Given the description of an element on the screen output the (x, y) to click on. 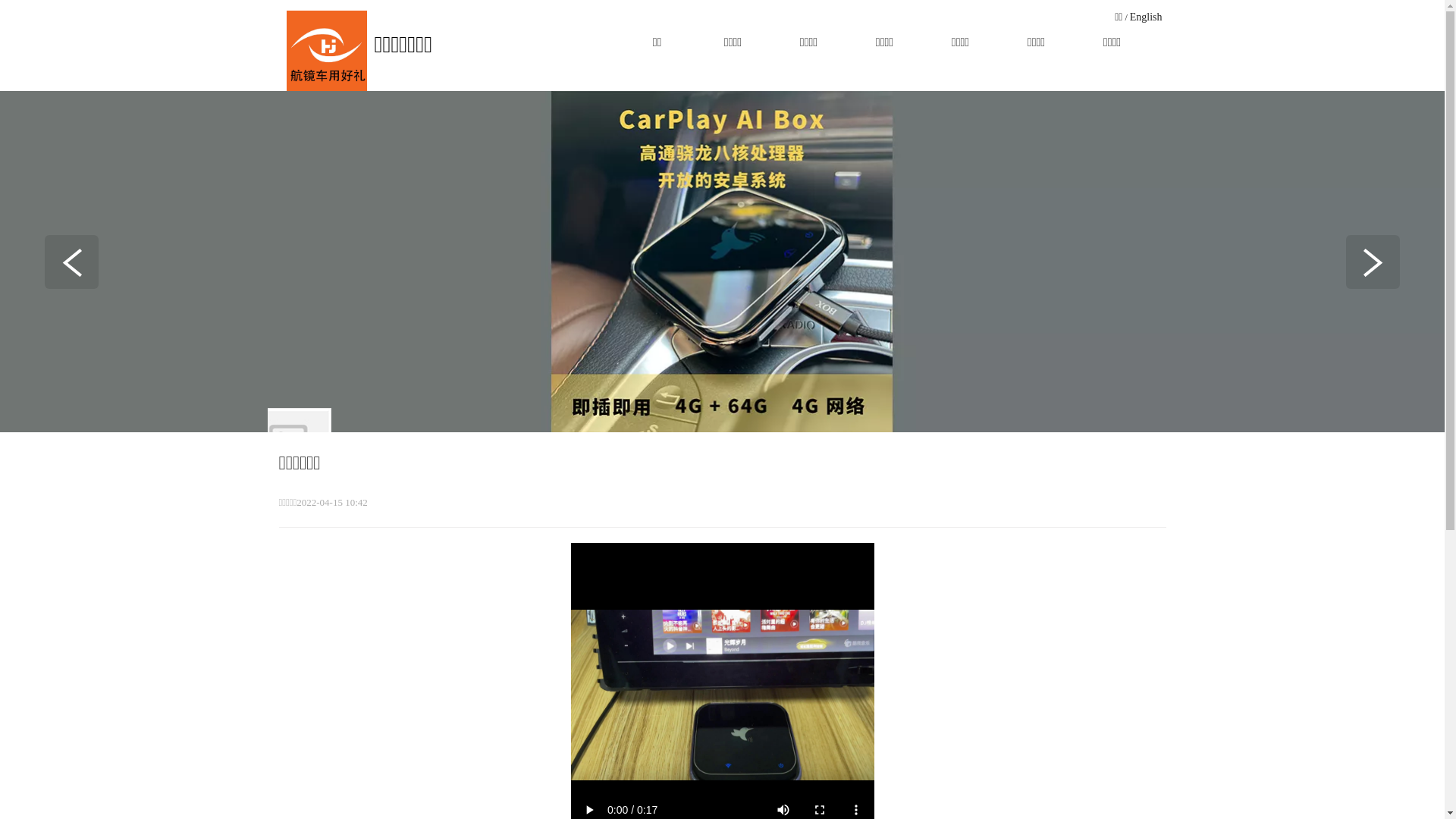
English Element type: text (1145, 16)
